Given the description of an element on the screen output the (x, y) to click on. 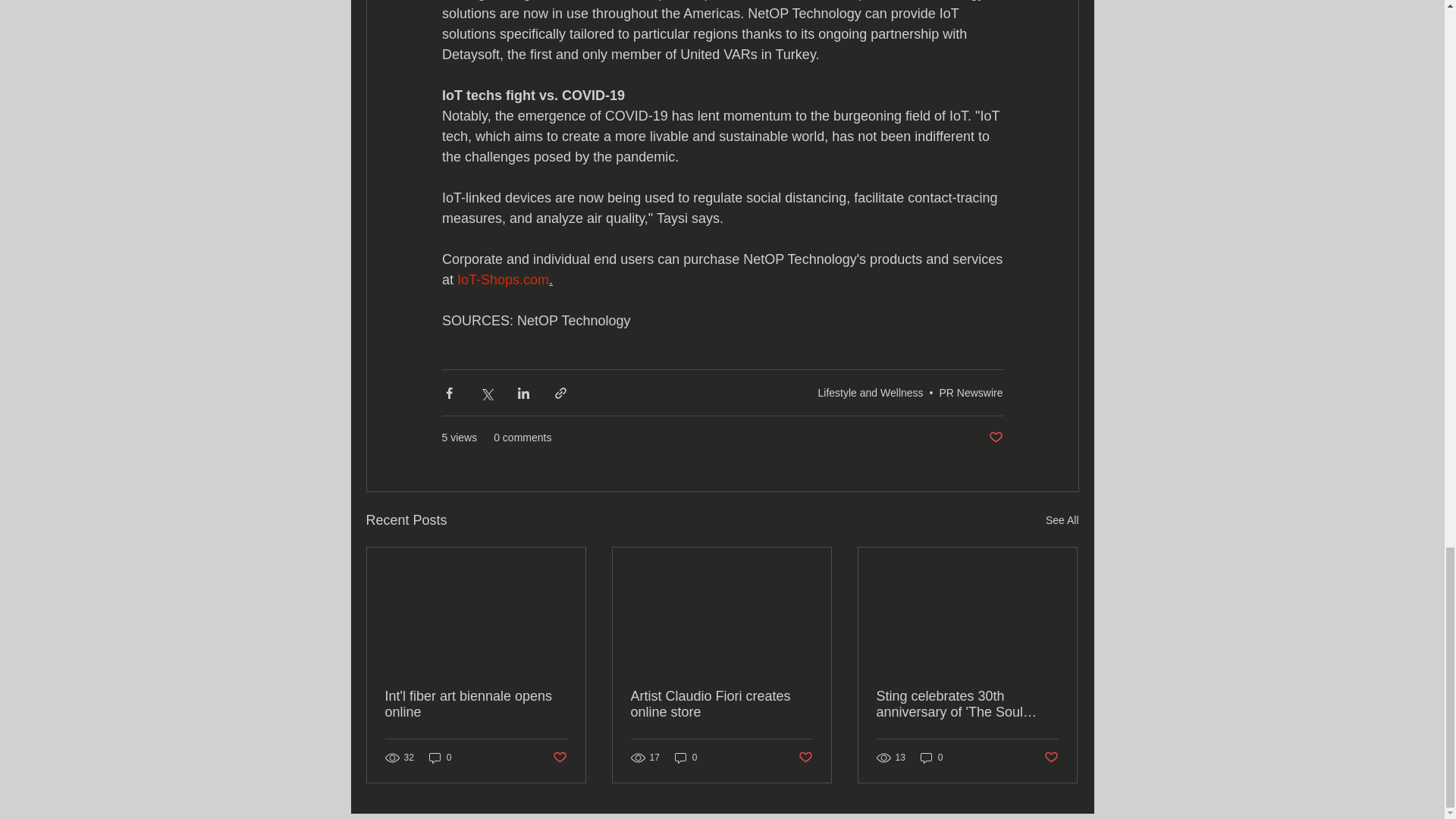
Int'l fiber art biennale opens online (476, 704)
Artist Claudio Fiori creates online store (721, 704)
Post not marked as liked (804, 757)
Post not marked as liked (558, 757)
Post not marked as liked (1050, 757)
0 (685, 757)
IoT-Shops.com (502, 279)
See All (1061, 520)
0 (931, 757)
PR Newswire (971, 392)
Lifestyle and Wellness (870, 392)
Post not marked as liked (995, 437)
0 (440, 757)
